Given the description of an element on the screen output the (x, y) to click on. 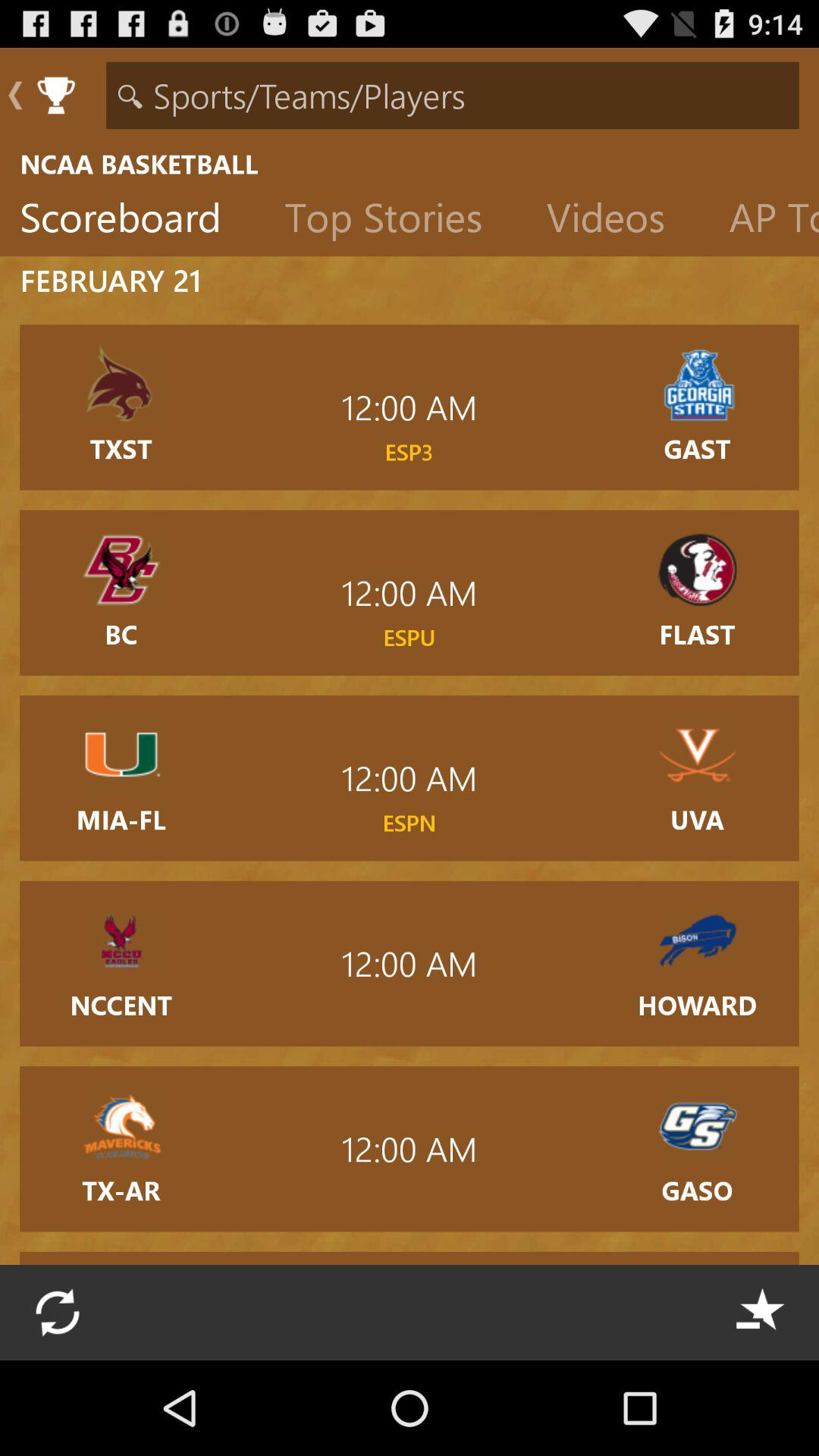
click the item below the ncaa basketball item (764, 220)
